Given the description of an element on the screen output the (x, y) to click on. 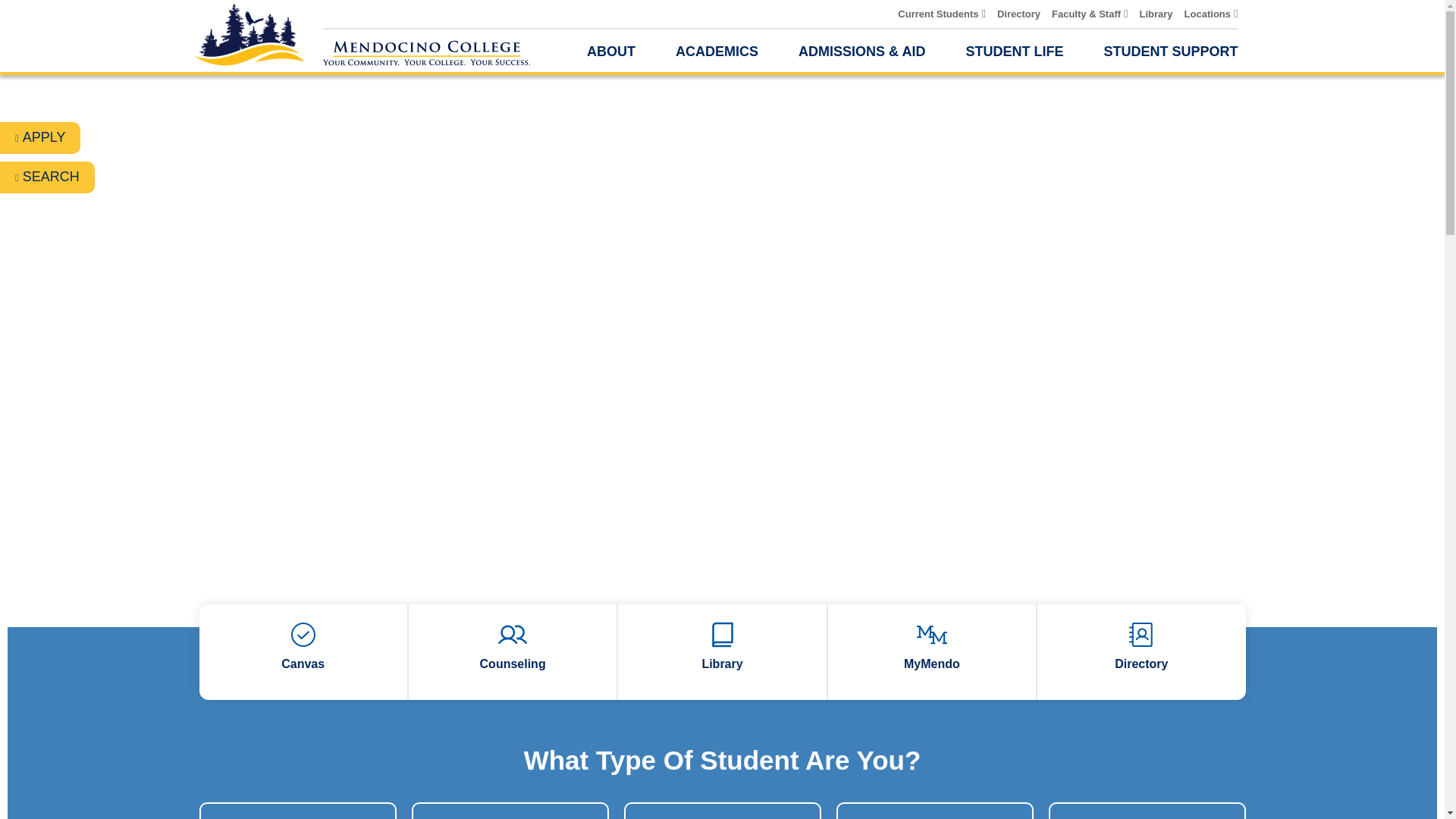
Current Students (938, 12)
Library (1156, 12)
Current Students (938, 12)
ABOUT (610, 51)
Directory (1019, 12)
Locations (1207, 12)
Directory (1019, 12)
